Given the description of an element on the screen output the (x, y) to click on. 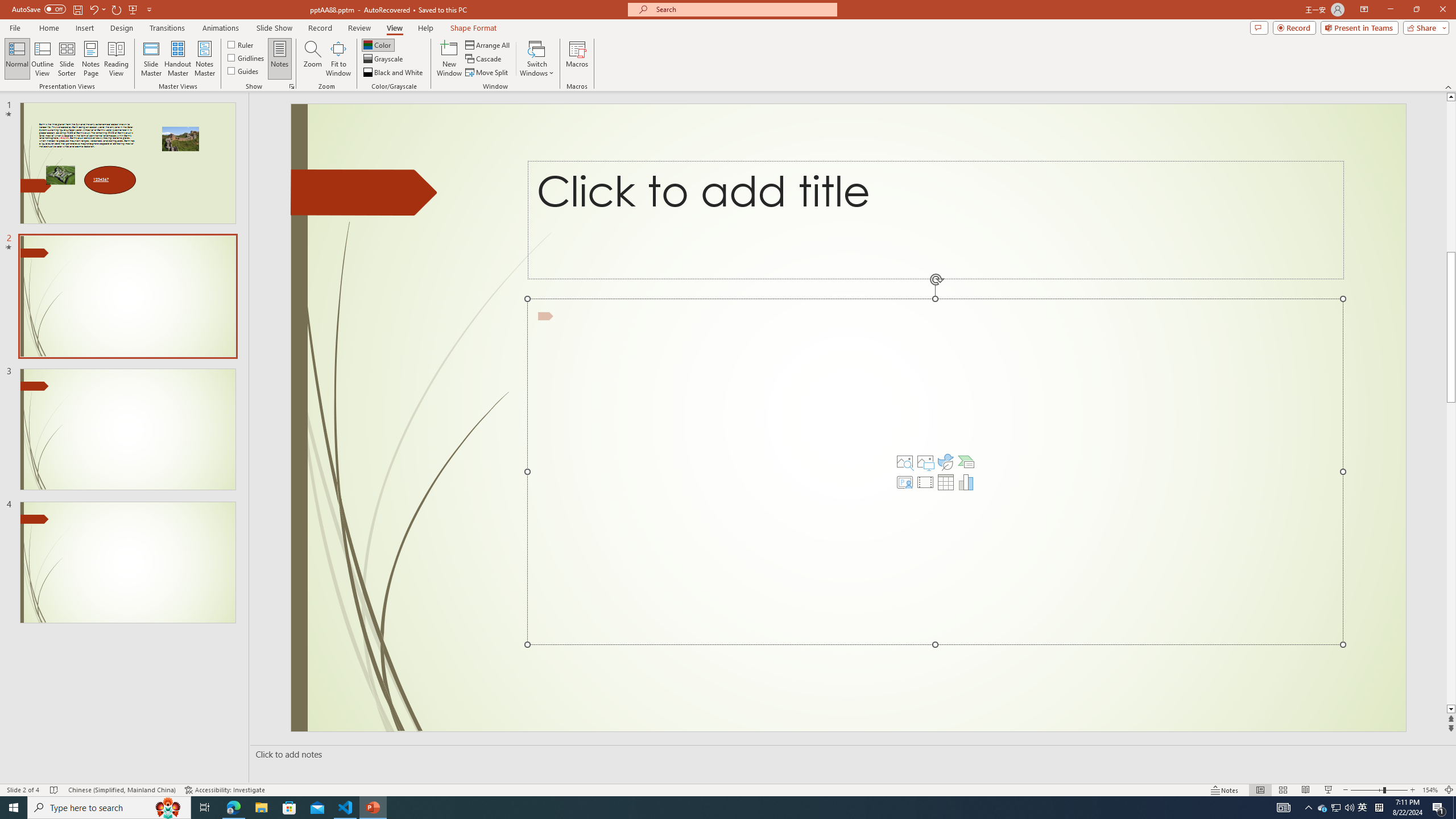
Zoom 154% (1430, 790)
Content Placeholder (934, 471)
Macros (576, 58)
Arrange All (488, 44)
